Given the description of an element on the screen output the (x, y) to click on. 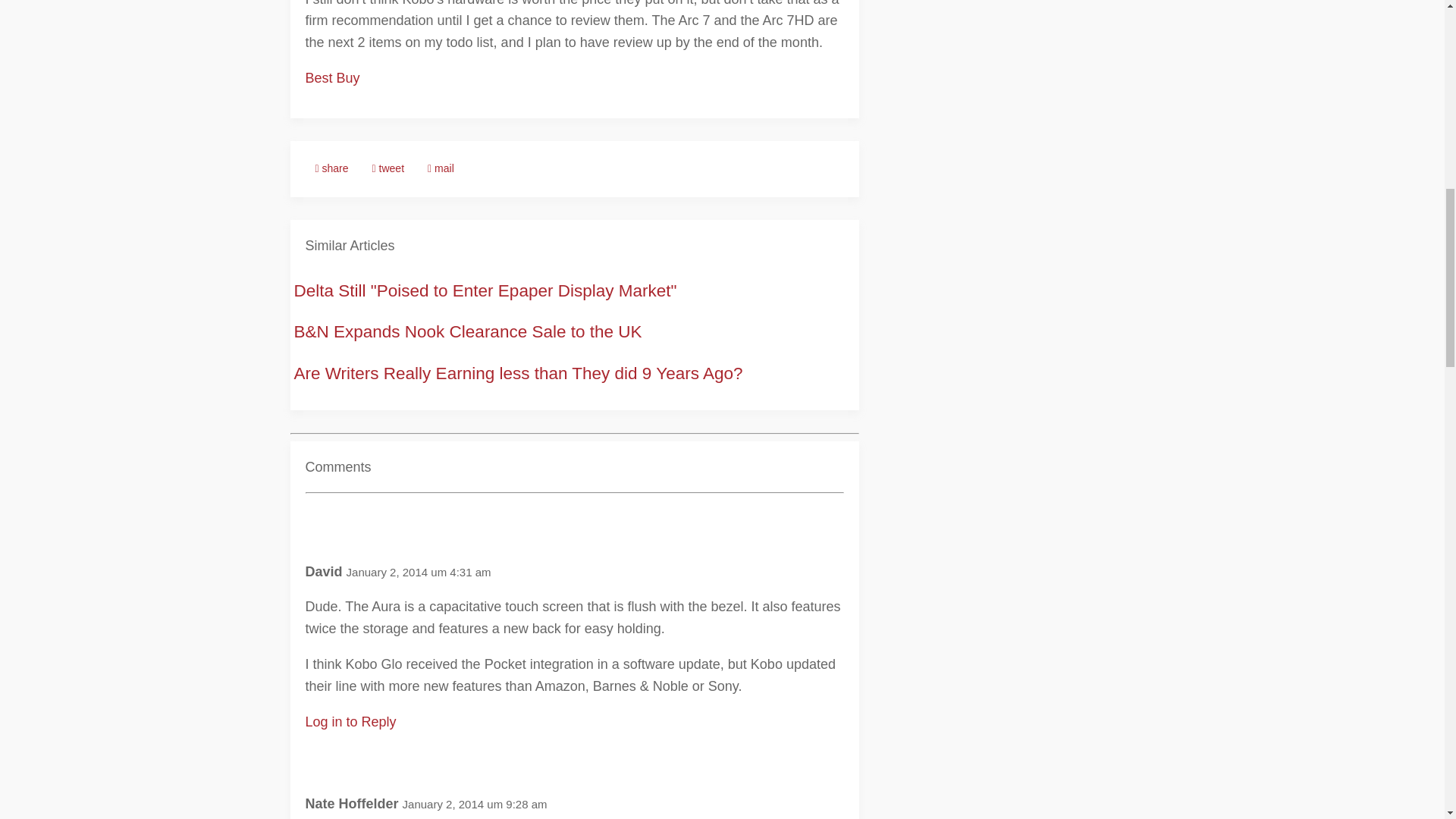
Are Writers Really Earning less than They did 9 Years Ago? (518, 373)
Best Buy (331, 77)
Delta Still "Poised to Enter Epaper Display Market" (485, 290)
tweet (387, 168)
Log in to Reply (350, 721)
mail (440, 168)
Delta Still "Poised to Enter Epaper Display Market" (485, 290)
share (331, 168)
Are Writers Really Earning less than They did 9 Years Ago? (518, 373)
